Given the description of an element on the screen output the (x, y) to click on. 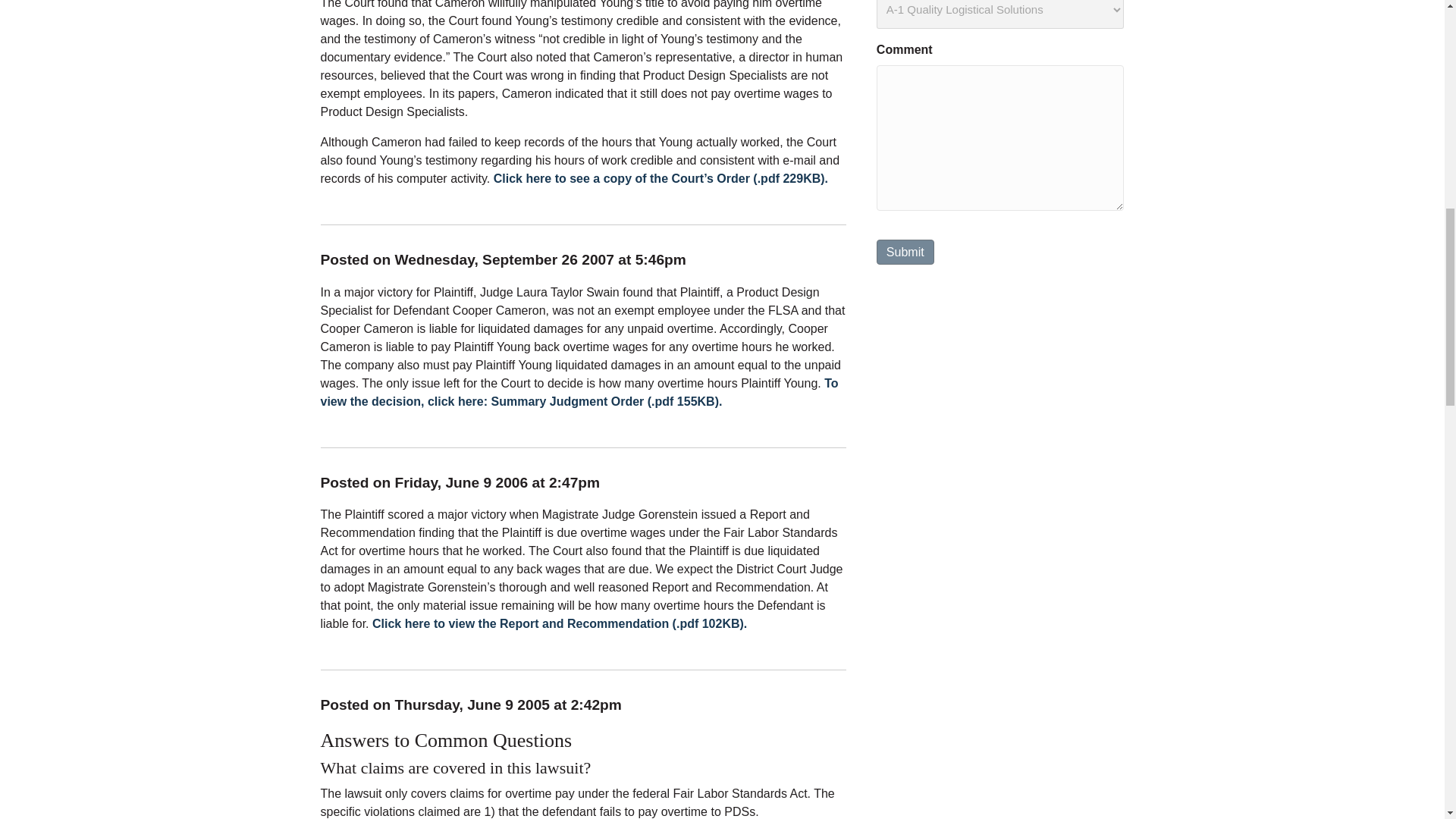
Submit (905, 251)
